Given the description of an element on the screen output the (x, y) to click on. 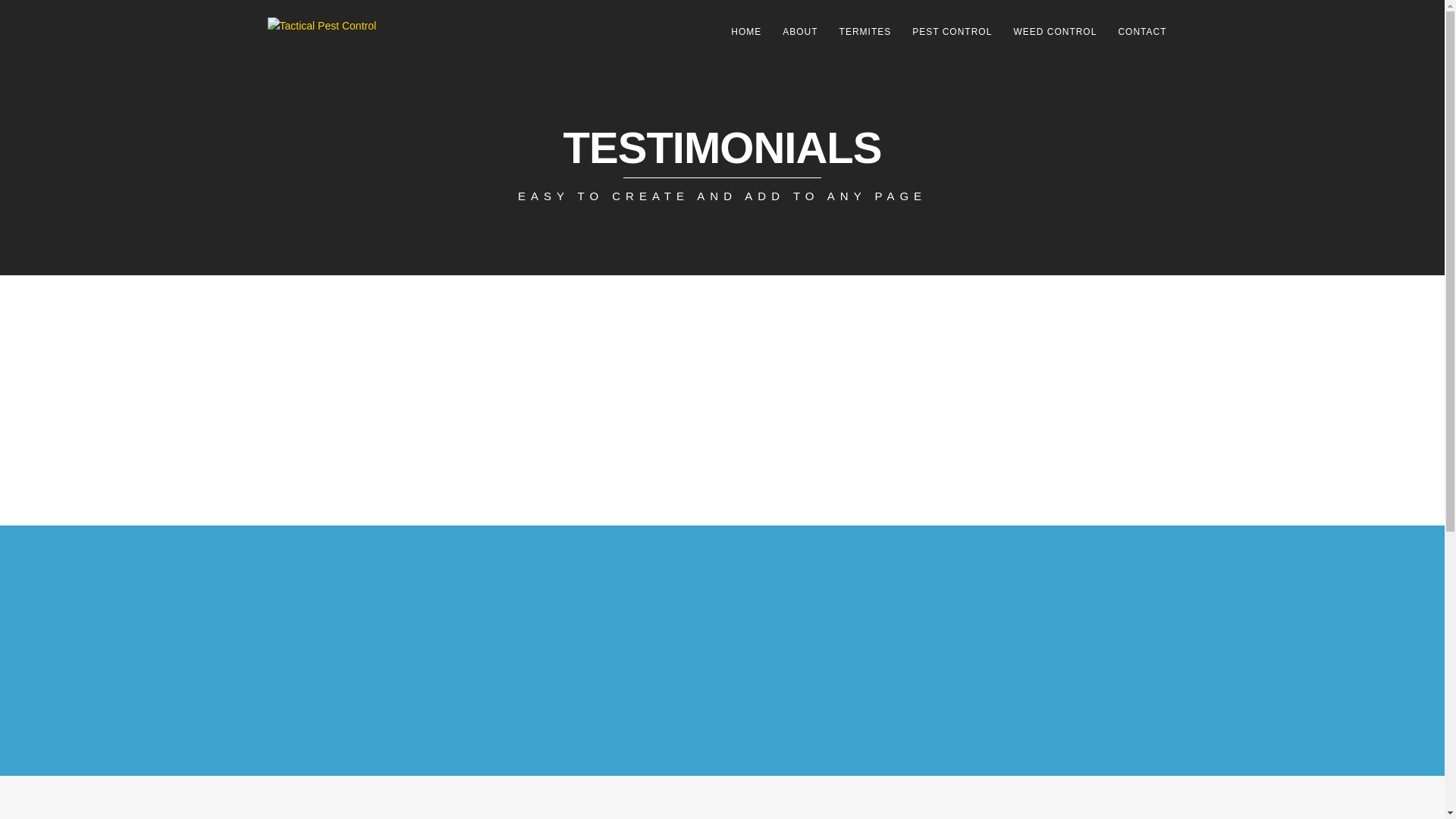
TERMITES (865, 31)
HOME (745, 31)
PEST CONTROL (952, 31)
WEED CONTROL (1054, 31)
CONTACT (1141, 31)
ABOUT (799, 31)
